Given the description of an element on the screen output the (x, y) to click on. 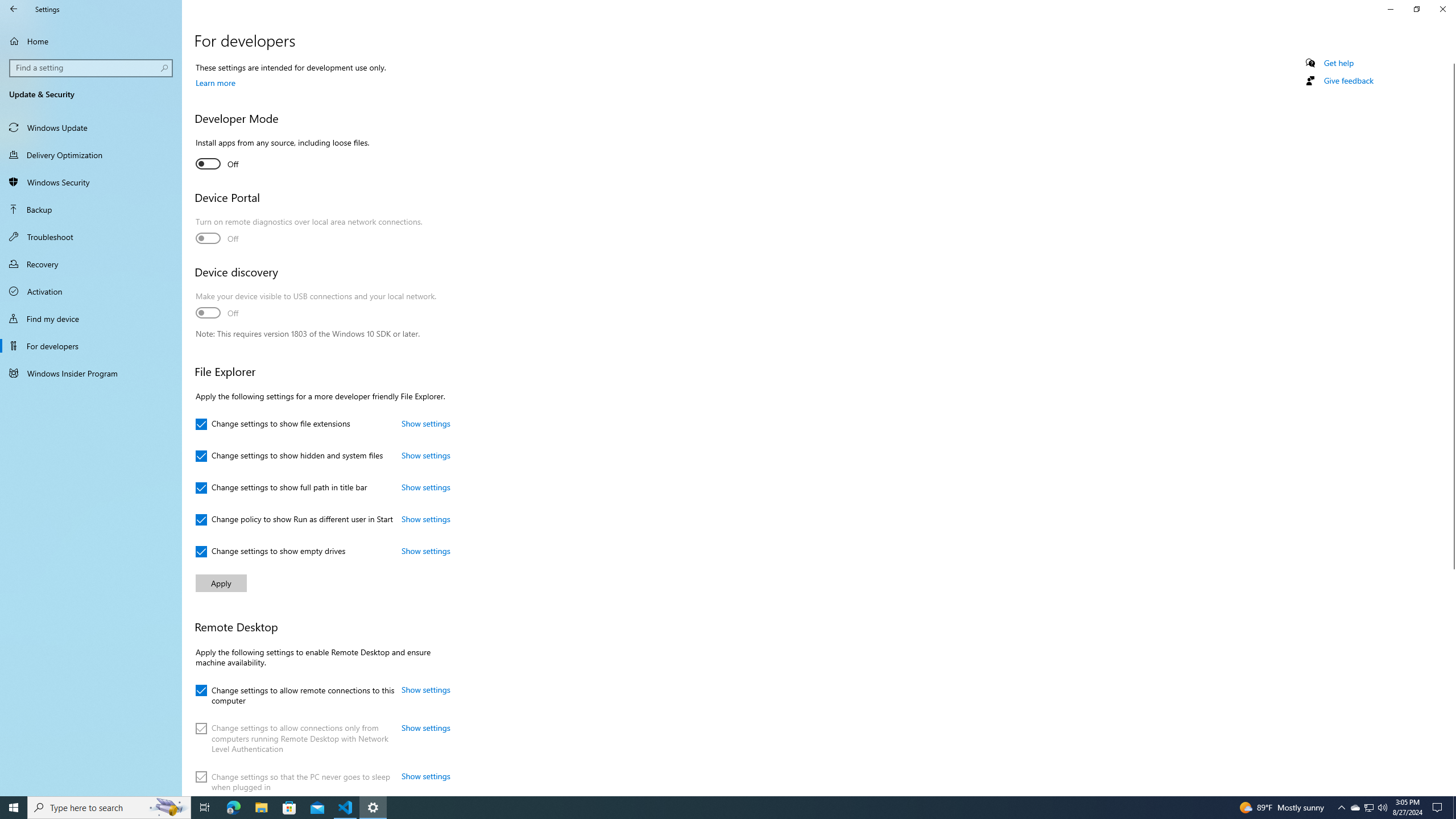
Give feedback (1348, 80)
Find my device (91, 318)
